Given the description of an element on the screen output the (x, y) to click on. 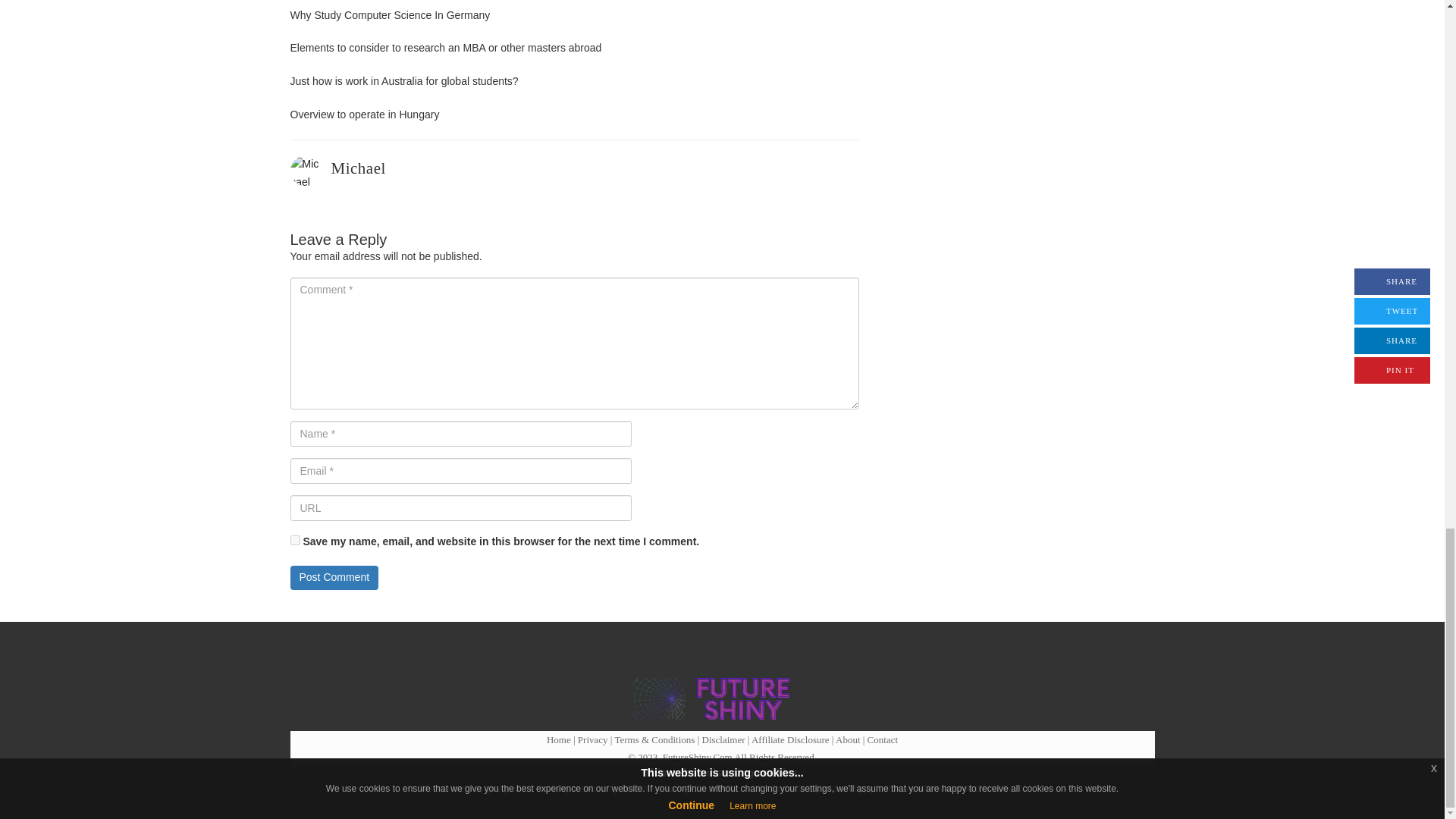
Michael (357, 167)
Post Comment (333, 577)
Post Comment (333, 577)
Future Shiny (716, 698)
yes (294, 540)
